Given the description of an element on the screen output the (x, y) to click on. 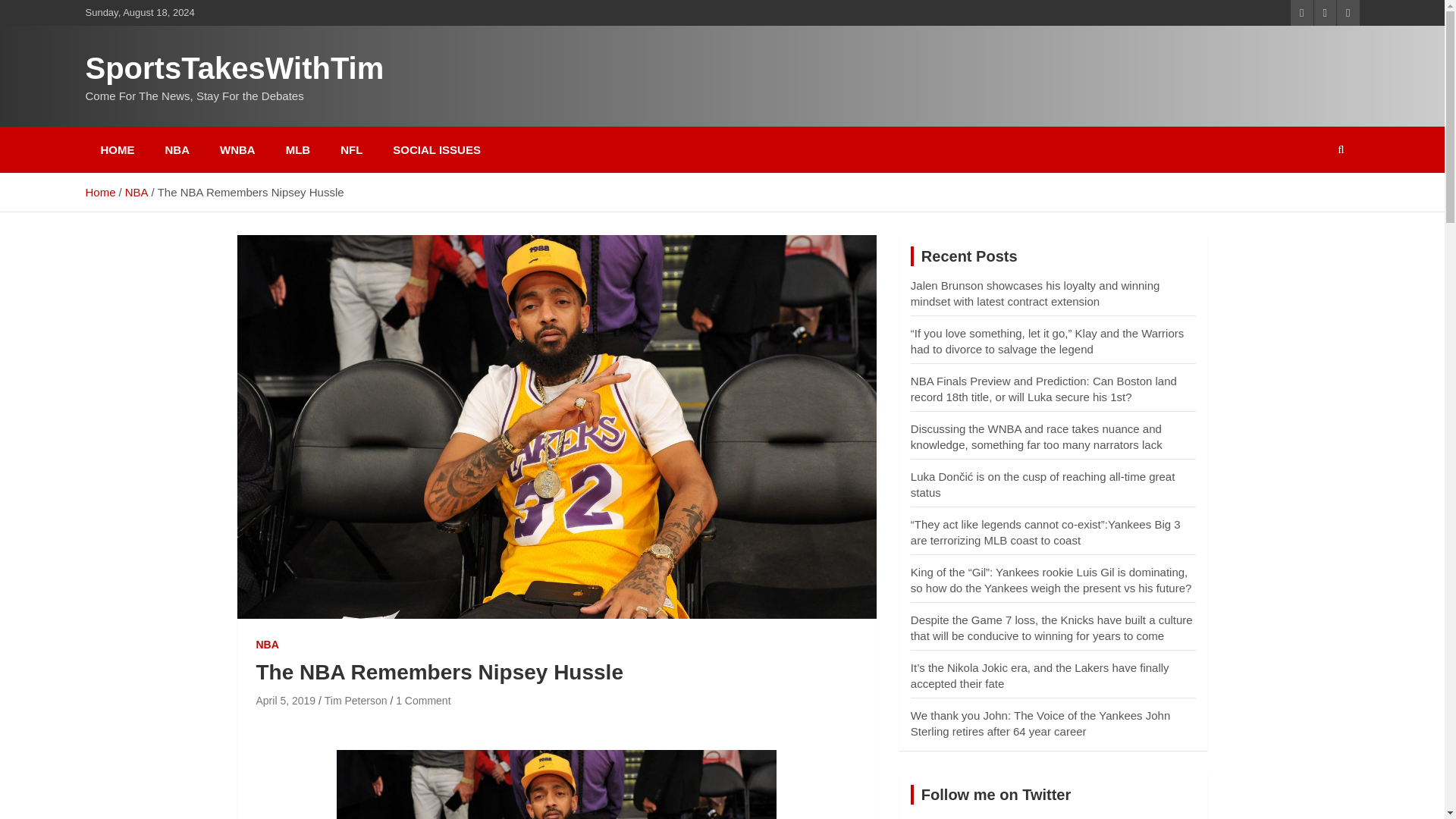
SOCIAL ISSUES (436, 149)
MLB (298, 149)
HOME (116, 149)
The NBA Remembers Nipsey Hussle (285, 700)
April 5, 2019 (285, 700)
NBA (267, 645)
NFL (350, 149)
SportsTakesWithTim (234, 68)
WNBA (237, 149)
Tim Peterson (355, 700)
